Given the description of an element on the screen output the (x, y) to click on. 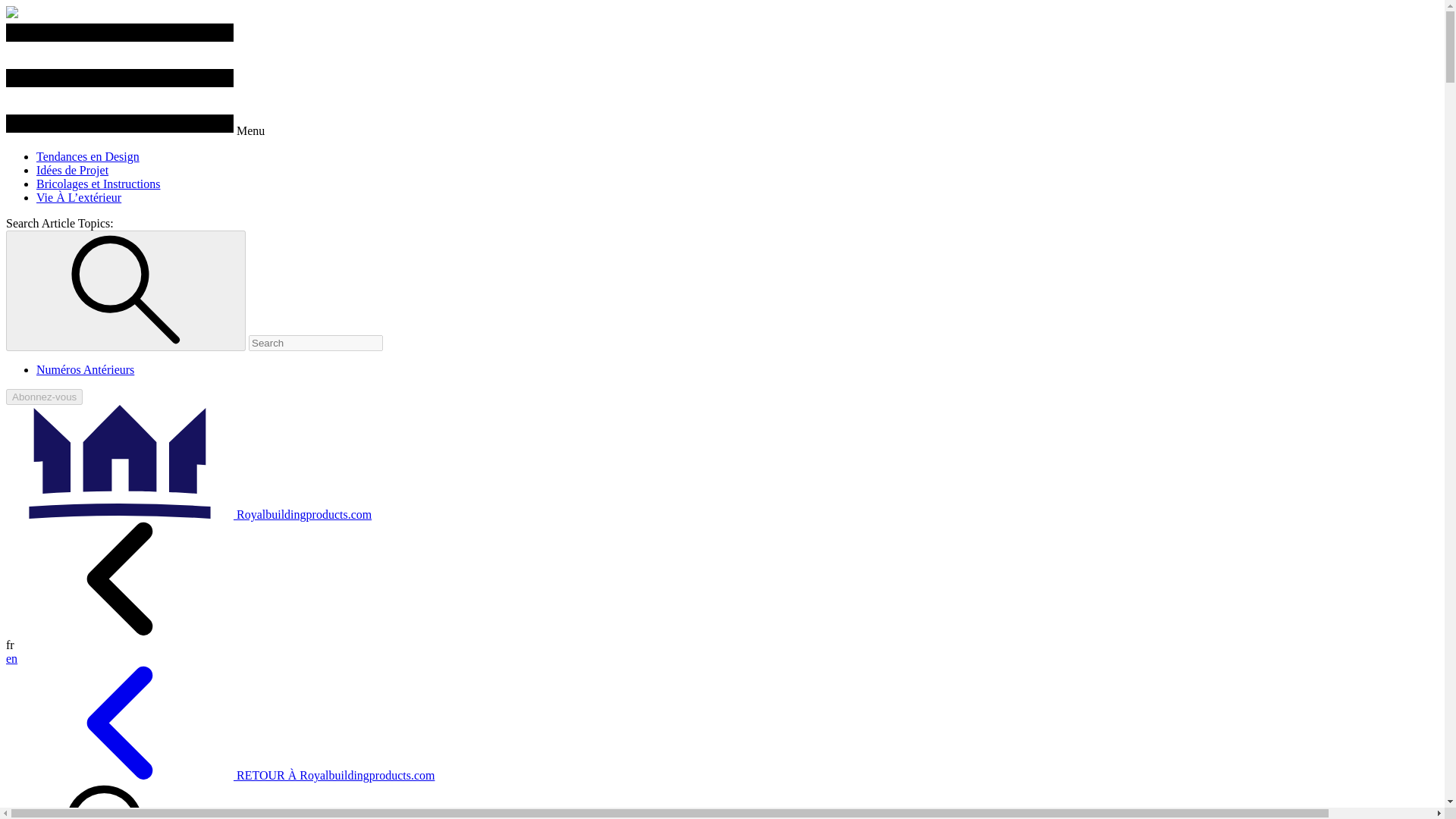
Tendances en Design (87, 155)
Bricolages et Instructions (98, 183)
Abonnez-vous (43, 396)
Royalbuildingproducts.com (188, 513)
